Given the description of an element on the screen output the (x, y) to click on. 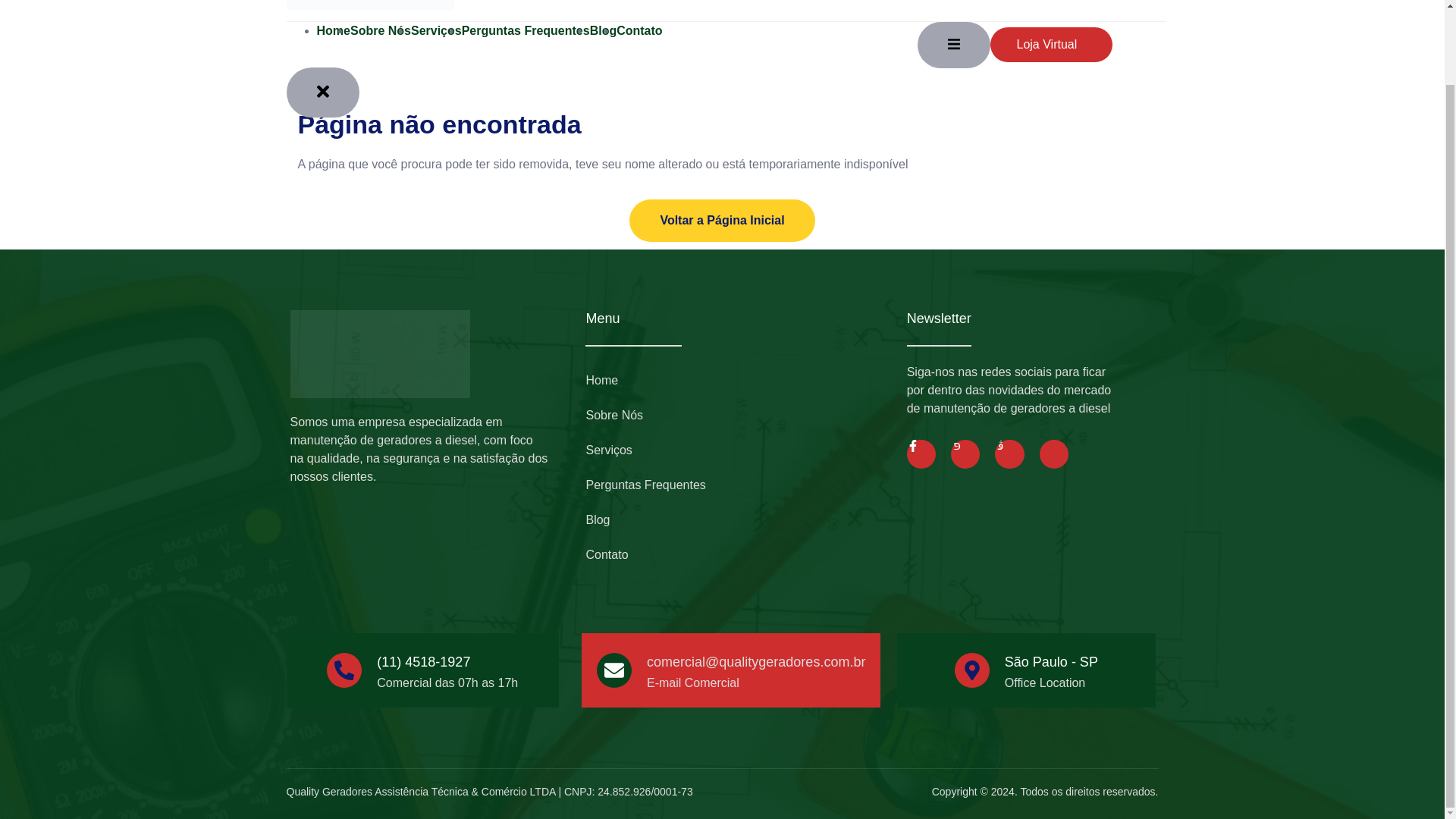
Home (739, 380)
Perguntas Frequentes (739, 484)
Blog (739, 519)
Perguntas Frequentes (525, 31)
Blog (603, 31)
Home (333, 31)
Loja Virtual (1051, 44)
Contato (739, 554)
Contato (638, 31)
